Given the description of an element on the screen output the (x, y) to click on. 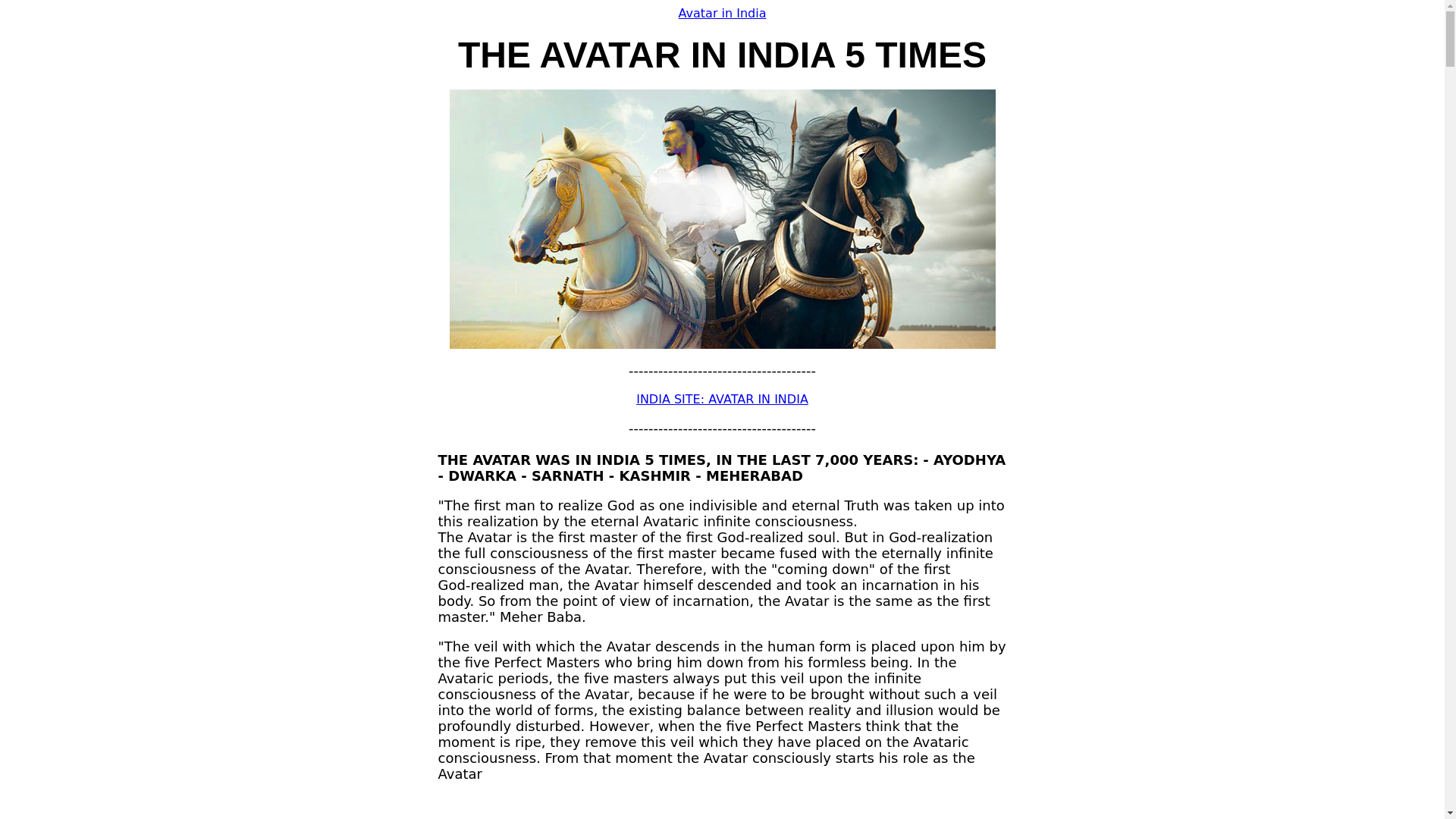
Avatar in India (722, 12)
INDIA SITE: AVATAR IN INDIA (722, 399)
